Given the description of an element on the screen output the (x, y) to click on. 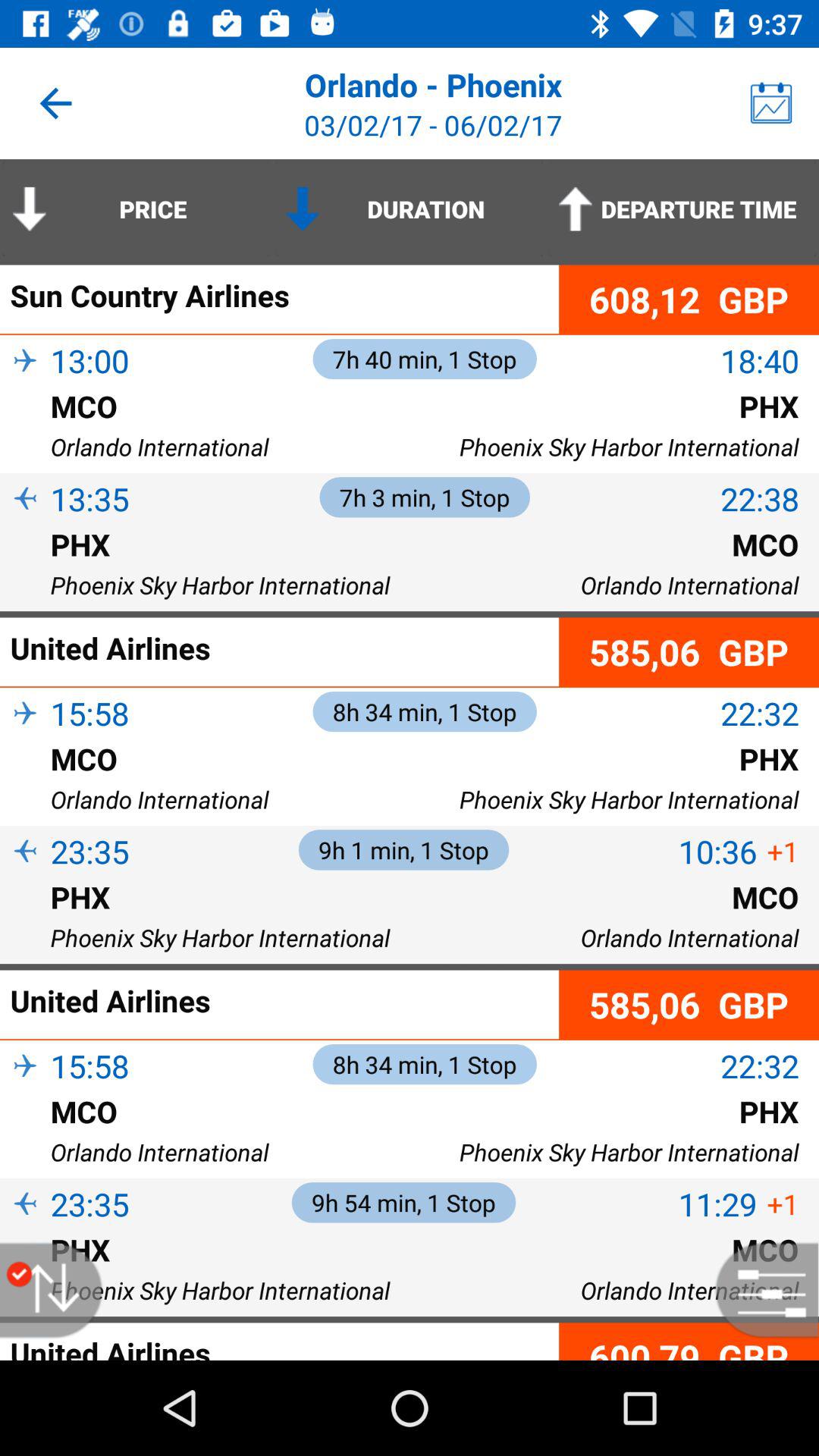
launch price icon (136, 208)
